Given the description of an element on the screen output the (x, y) to click on. 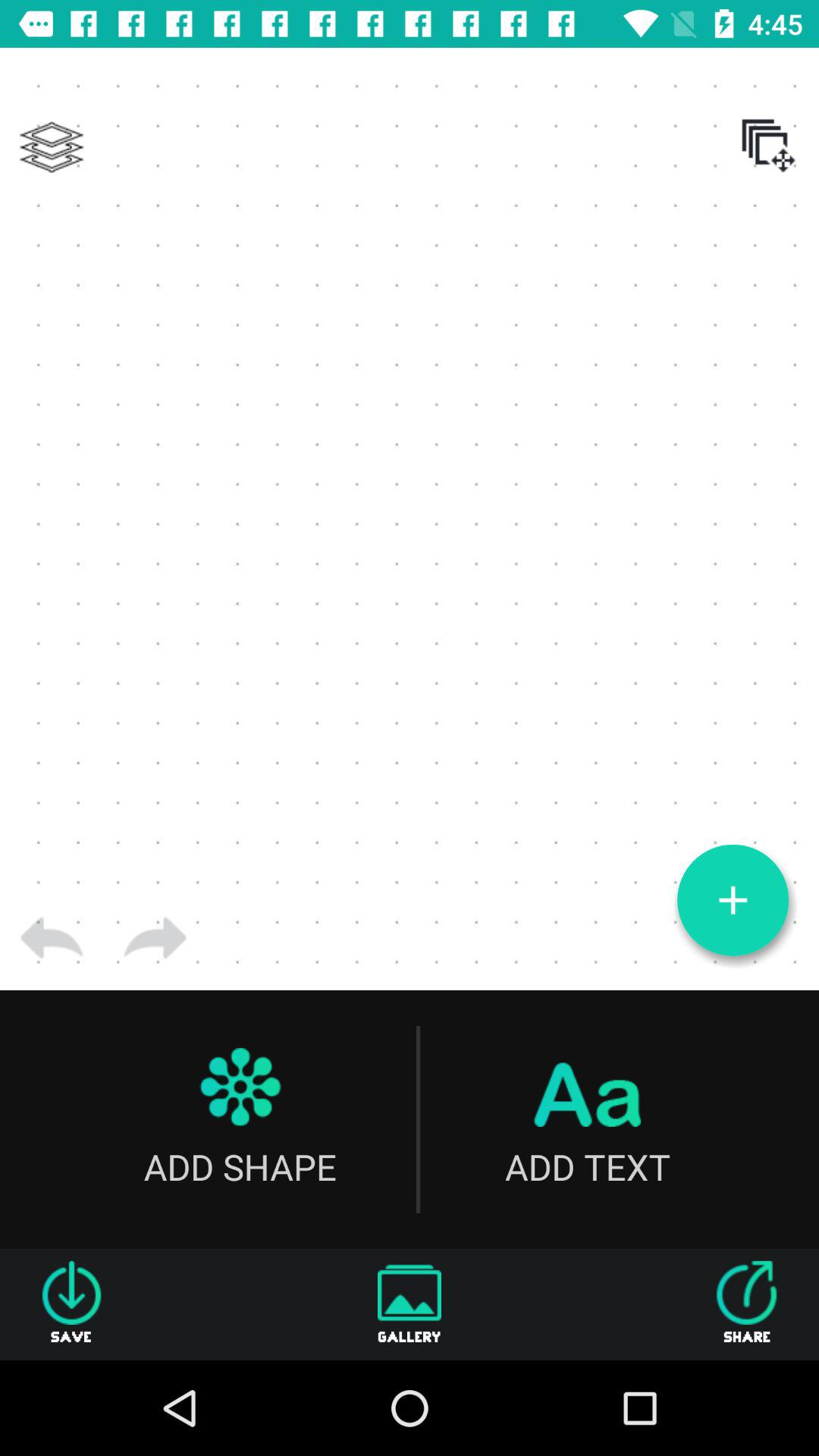
undo (51, 938)
